Given the description of an element on the screen output the (x, y) to click on. 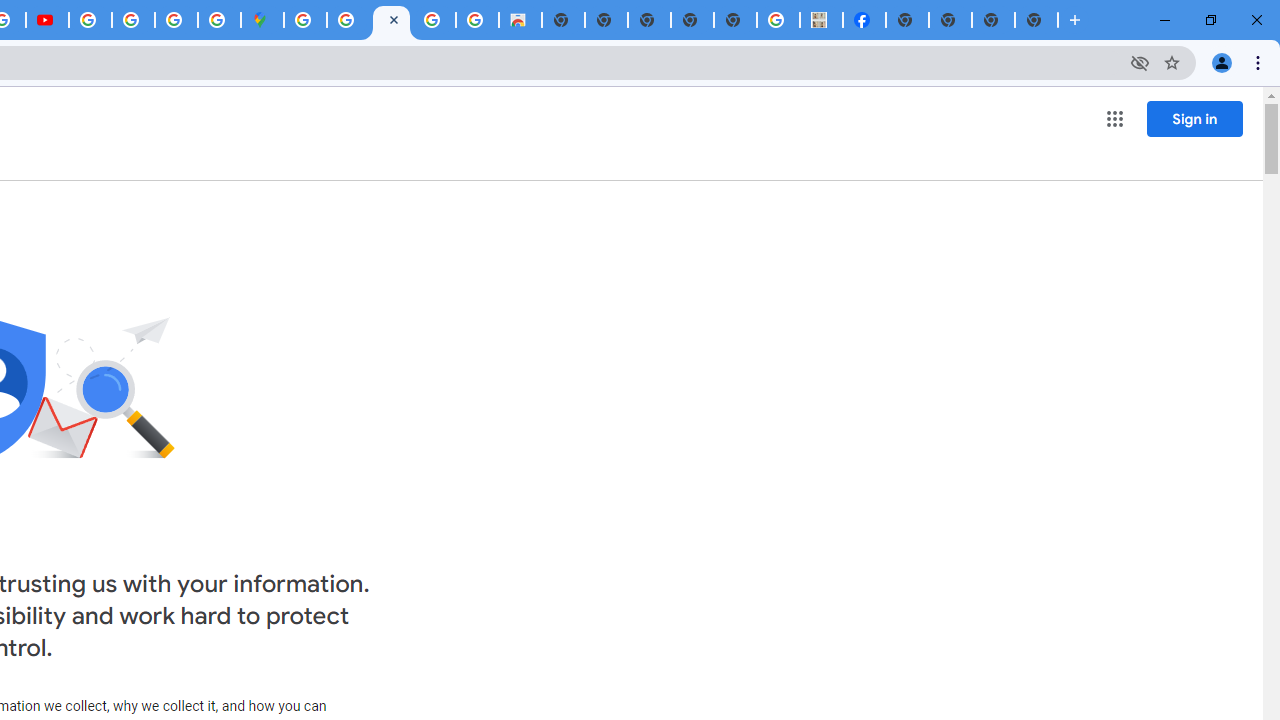
New Tab (907, 20)
Chrome Web Store - Shopping (520, 20)
MILEY CYRUS. (821, 20)
